Given the description of an element on the screen output the (x, y) to click on. 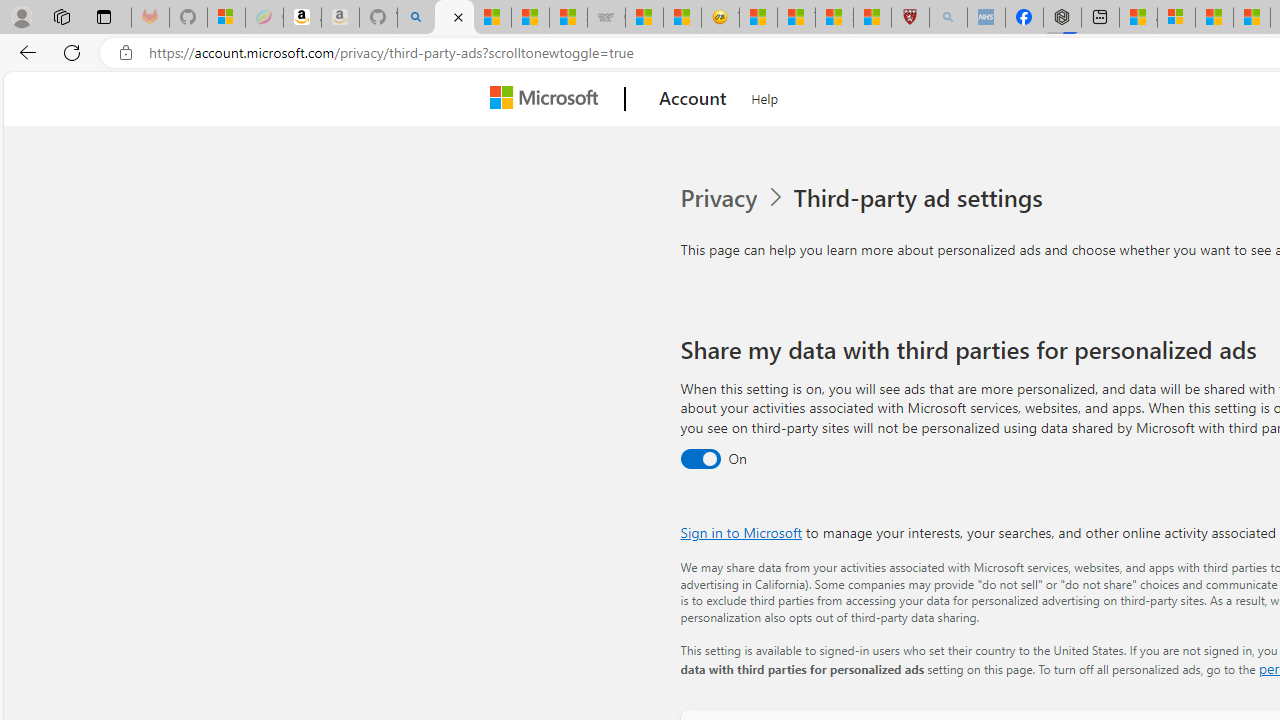
Third party data sharing toggle (699, 459)
Microsoft (548, 99)
